Given the description of an element on the screen output the (x, y) to click on. 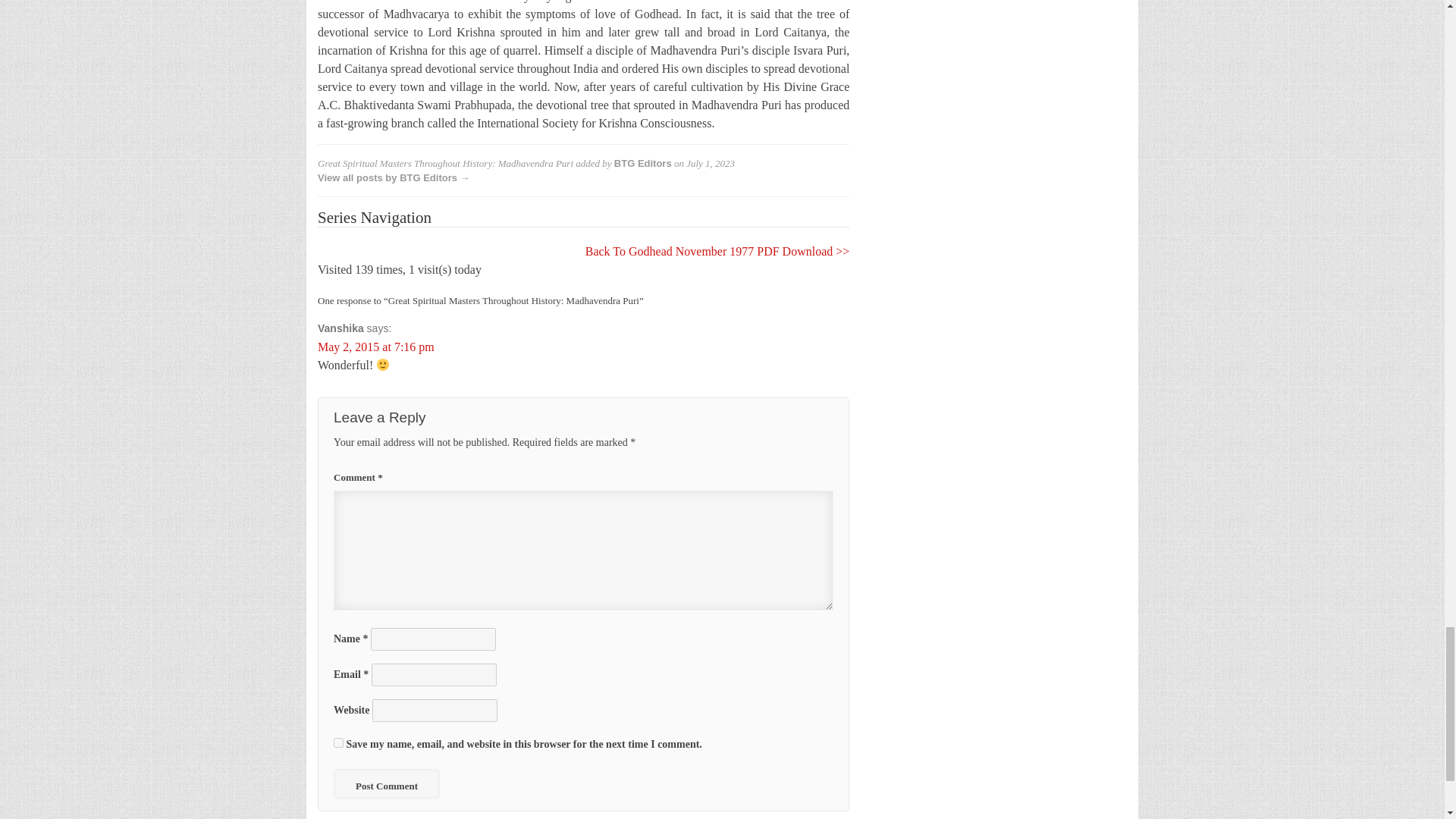
yes (338, 742)
Post Comment (386, 784)
